Given the description of an element on the screen output the (x, y) to click on. 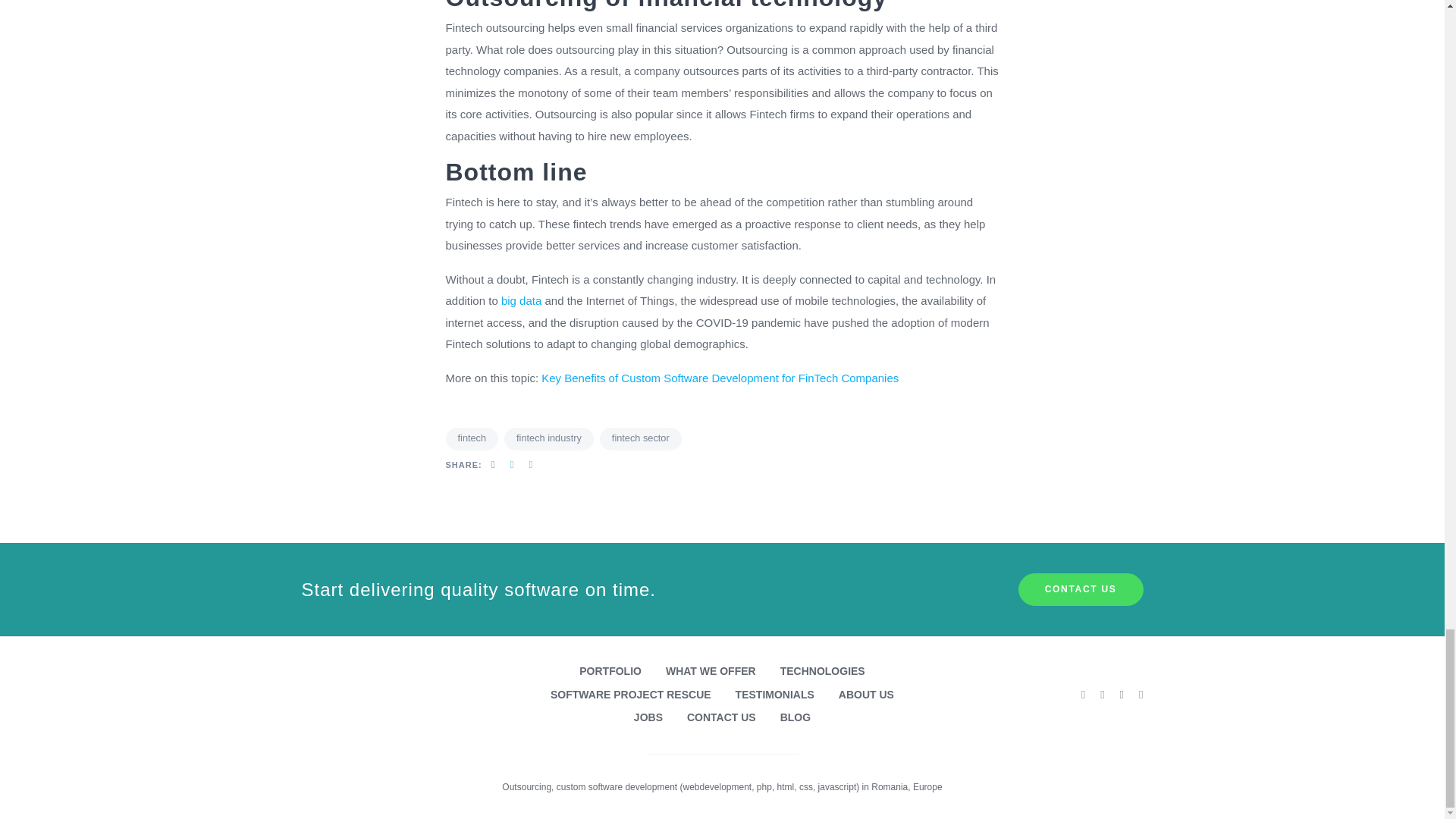
big data (520, 300)
ABOUT US (865, 694)
CONTACT US (1079, 589)
fintech industry (548, 438)
CONTACT US (721, 717)
BLOG (795, 717)
TECHNOLOGIES (822, 671)
fintech (472, 438)
SOFTWARE PROJECT RESCUE (630, 694)
PORTFOLIO (610, 671)
JOBS (647, 717)
WHAT WE OFFER (710, 671)
TESTIMONIALS (774, 694)
fintech sector (640, 438)
